Given the description of an element on the screen output the (x, y) to click on. 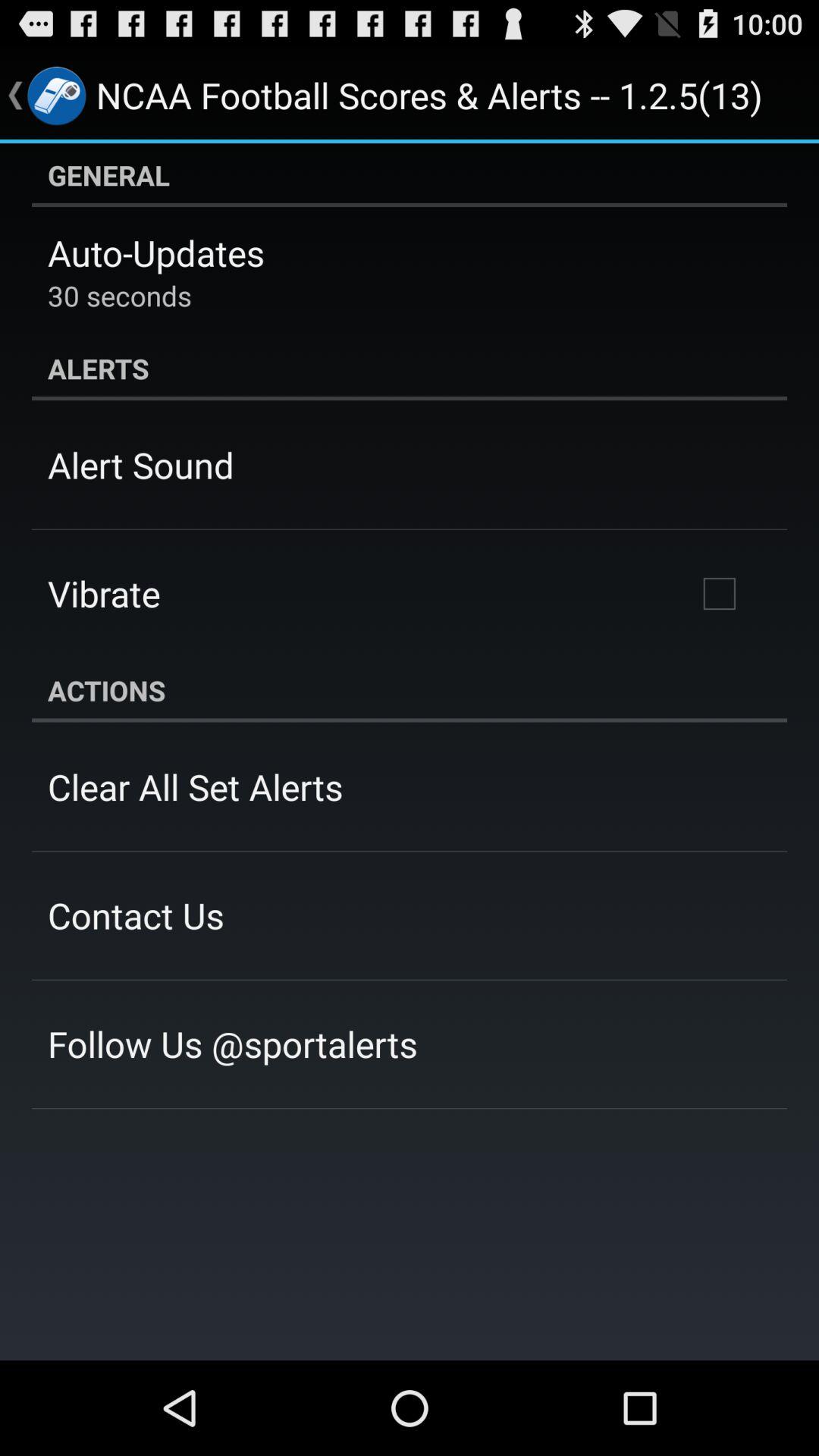
press icon below the alerts item (140, 464)
